Given the description of an element on the screen output the (x, y) to click on. 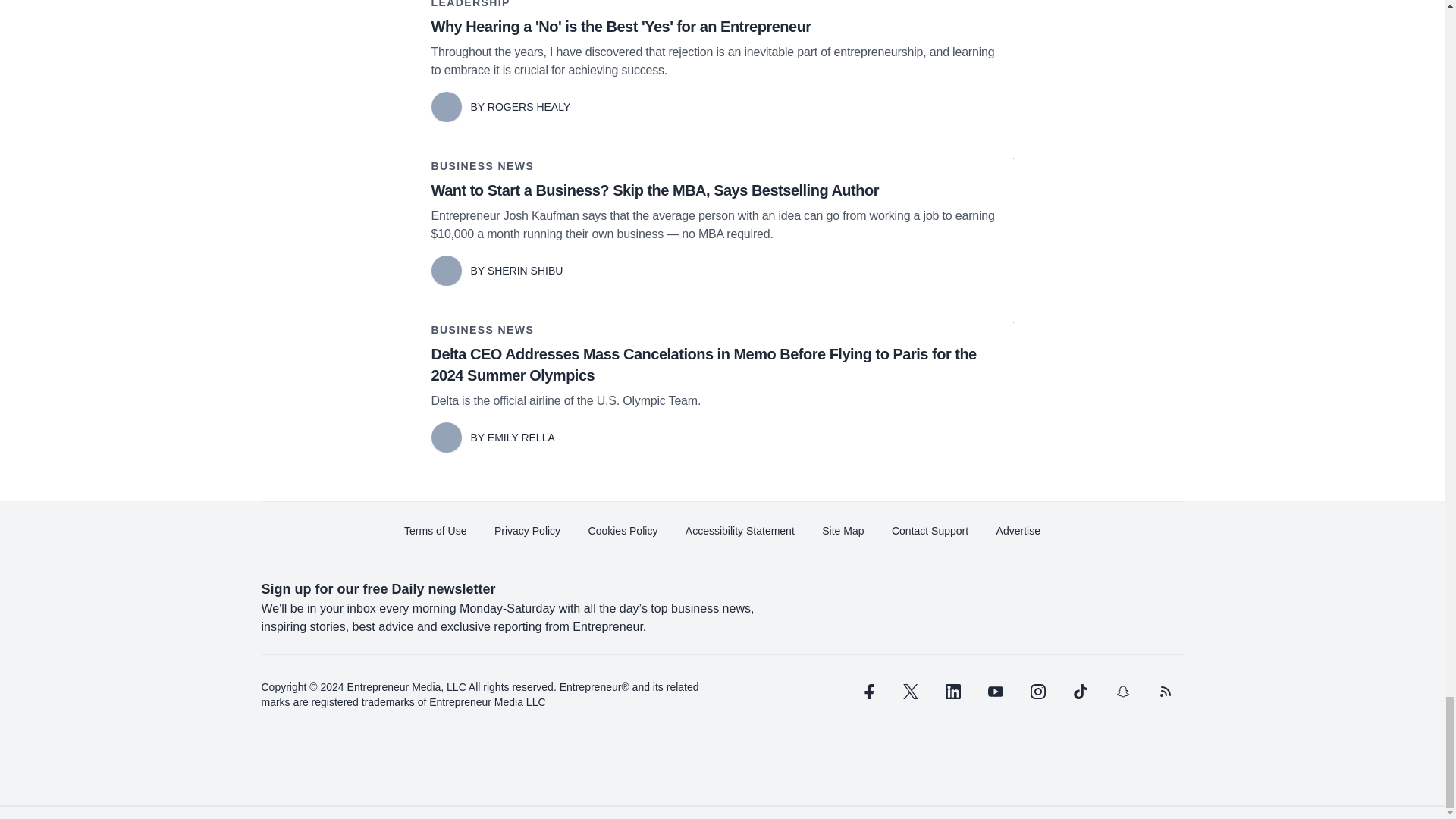
facebook (866, 691)
linkedin (952, 691)
youtube (994, 691)
tiktok (1079, 691)
instagram (1037, 691)
snapchat (1121, 691)
twitter (909, 691)
